Given the description of an element on the screen output the (x, y) to click on. 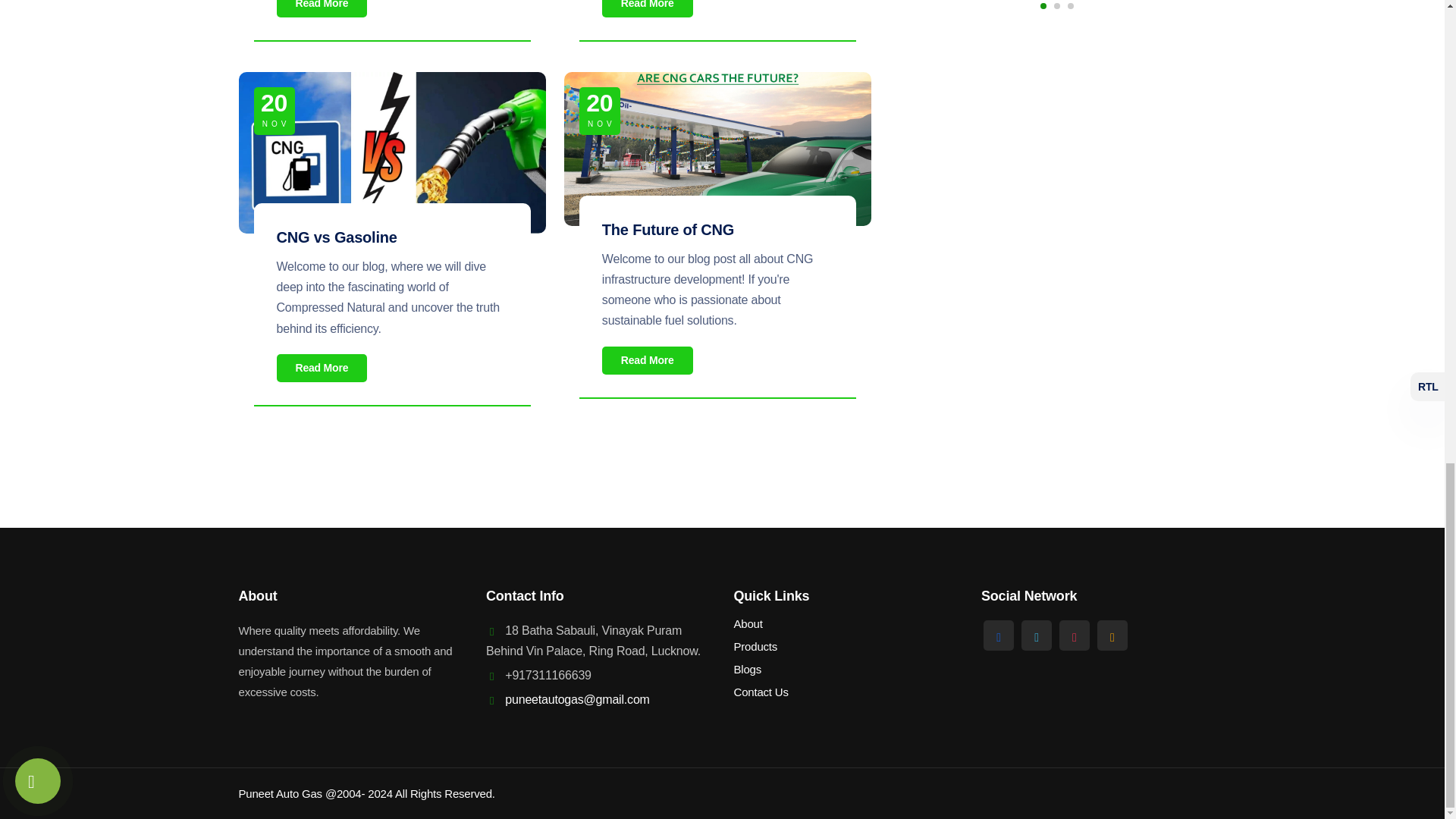
Contact Us (761, 691)
About (747, 623)
CNG vs Gasoline (336, 237)
Read More (321, 8)
Read More (647, 8)
Products (755, 645)
Blogs (747, 668)
The Future of CNG (667, 229)
Read More (647, 360)
Read More (321, 367)
